Given the description of an element on the screen output the (x, y) to click on. 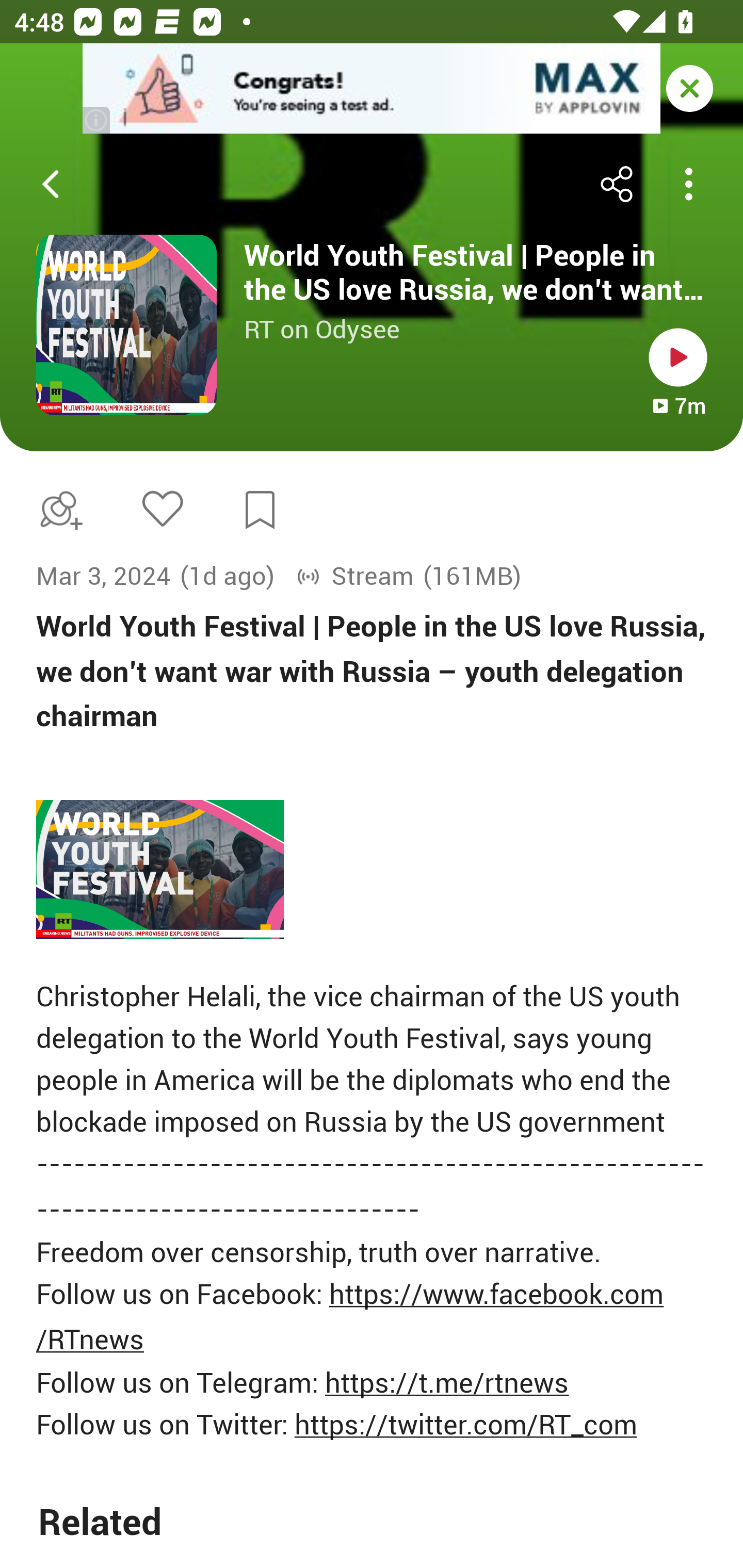
app-monetization (371, 88)
(i) (96, 119)
Back (50, 184)
Open series (126, 325)
Play button (677, 357)
Like (161, 507)
Add episode to Play Later (57, 509)
New bookmark … (259, 510)
Stream (354, 576)
